Given the description of an element on the screen output the (x, y) to click on. 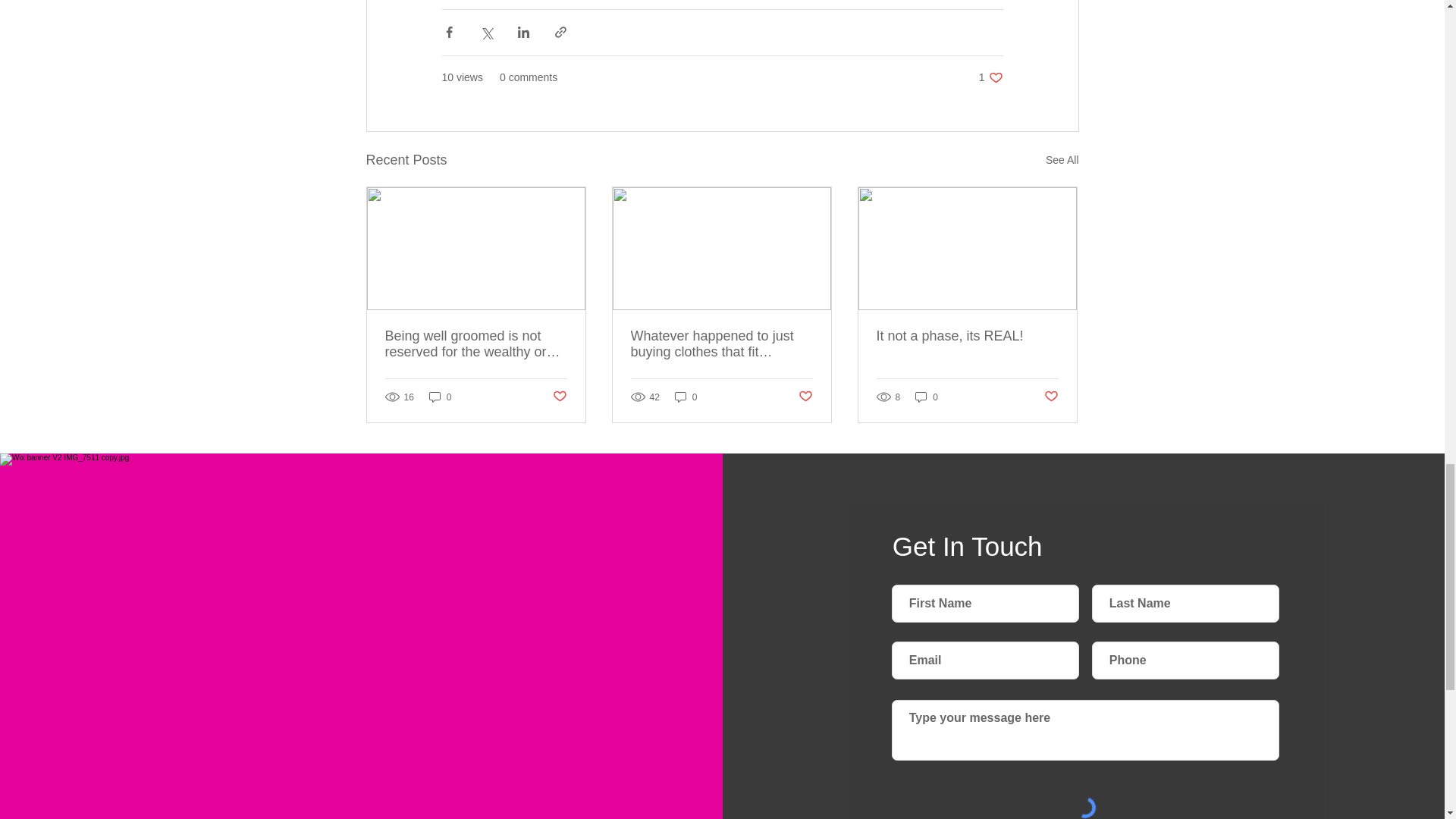
Whatever happened to just buying clothes that fit properly? (721, 344)
0 (440, 396)
Post not marked as liked (558, 396)
Post not marked as liked (990, 77)
Post not marked as liked (804, 396)
See All (1050, 396)
0 (1061, 160)
It not a phase, its REAL! (926, 396)
0 (967, 335)
